Given the description of an element on the screen output the (x, y) to click on. 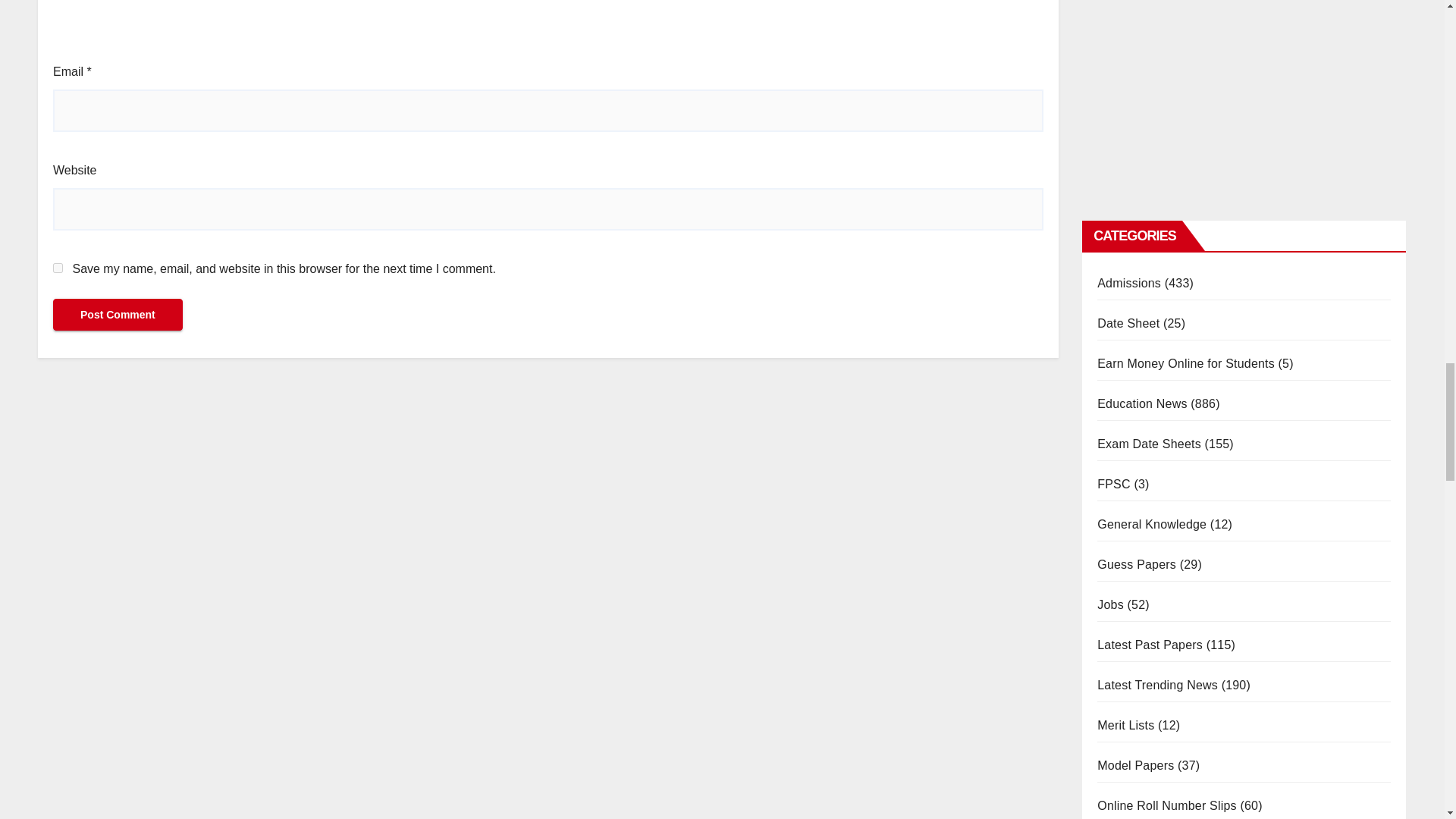
Advertisement (548, 30)
yes (57, 267)
Post Comment (117, 314)
